Given the description of an element on the screen output the (x, y) to click on. 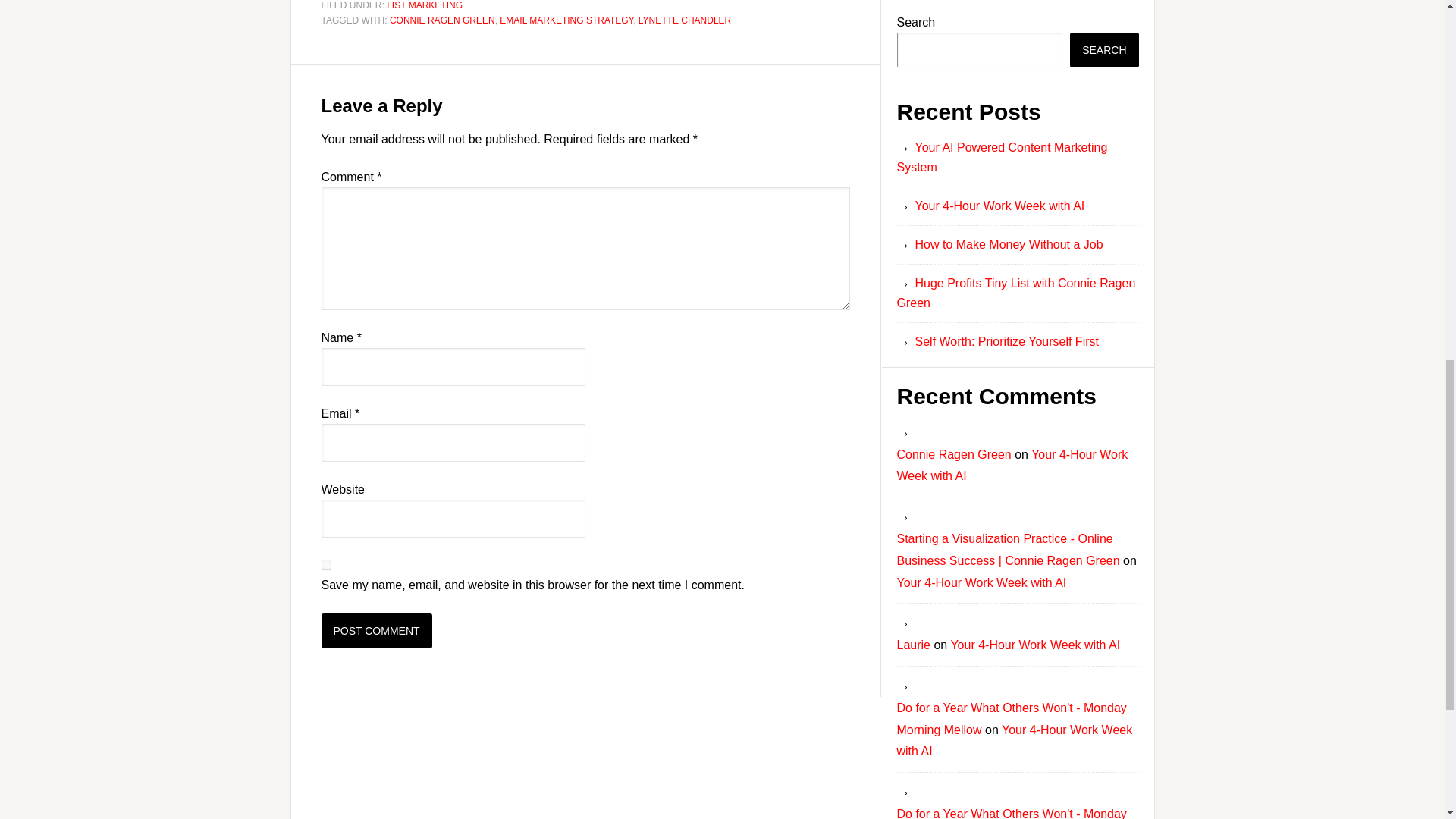
Huge Profits Tiny List with Connie Ragen Green (1015, 292)
Your 4-Hour Work Week with AI (1014, 740)
Your 4-Hour Work Week with AI (980, 582)
yes (326, 564)
LYNETTE CHANDLER (684, 20)
Connie Ragen Green (953, 454)
Your 4-Hour Work Week with AI (1034, 644)
Laurie (913, 644)
LIST MARKETING (425, 5)
Your 4-Hour Work Week with AI (1011, 465)
How to Make Money Without a Job (1008, 244)
Your 4-Hour Work Week with AI (999, 205)
Your AI Powered Content Marketing System (1001, 156)
SEARCH (1104, 49)
Do for a Year What Others Won't - Monday Morning Mellow (1010, 718)
